Given the description of an element on the screen output the (x, y) to click on. 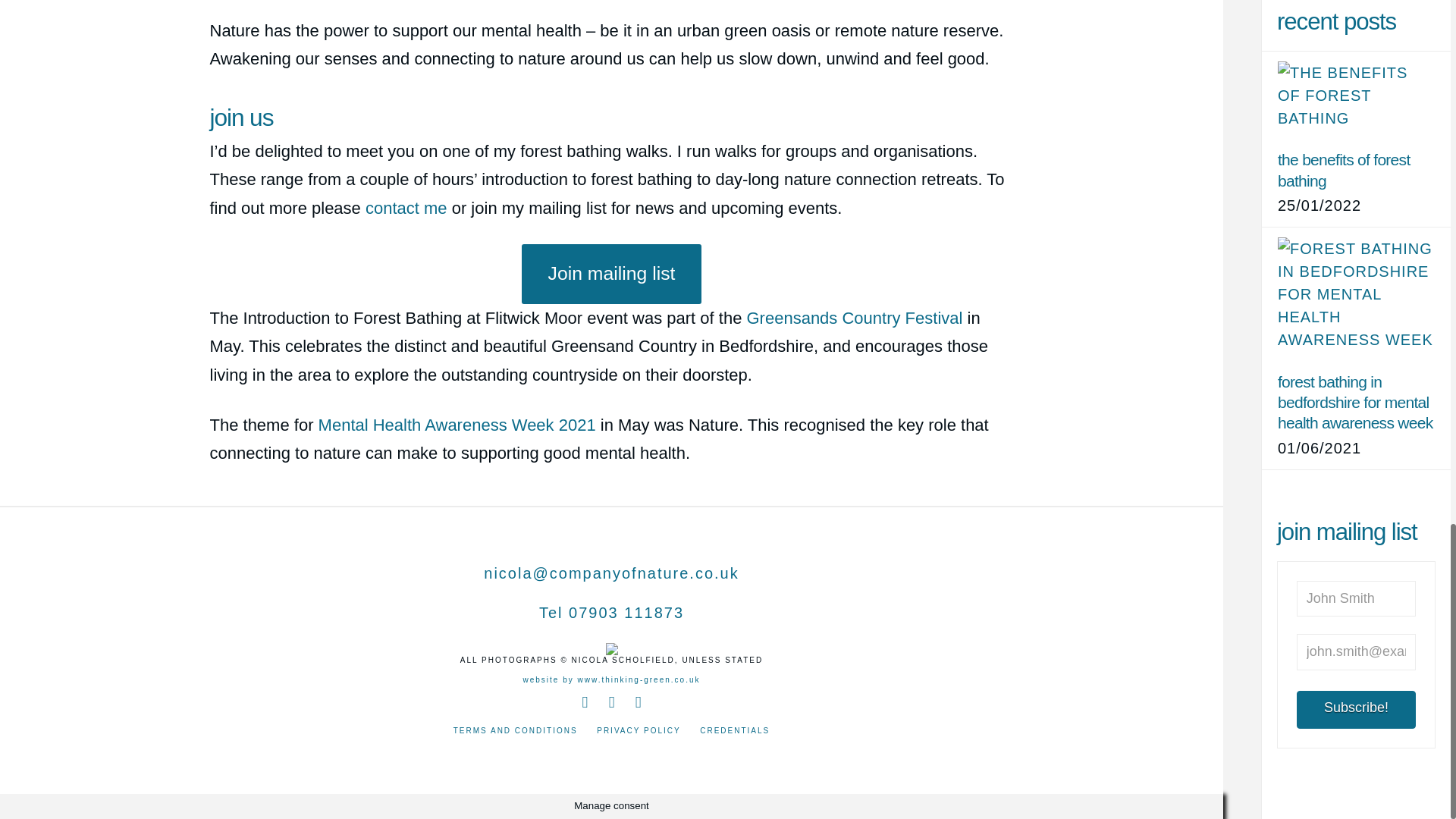
Greensands Country Festival (853, 317)
Join mailing list (611, 273)
www.thinking-green.co.uk (639, 679)
CREDENTIALS (735, 730)
TERMS AND CONDITIONS (515, 730)
Tel 07903 111873 (611, 612)
Mental Health Awareness Week 2021 (456, 424)
PRIVACY POLICY (637, 730)
contact me (405, 208)
